Given the description of an element on the screen output the (x, y) to click on. 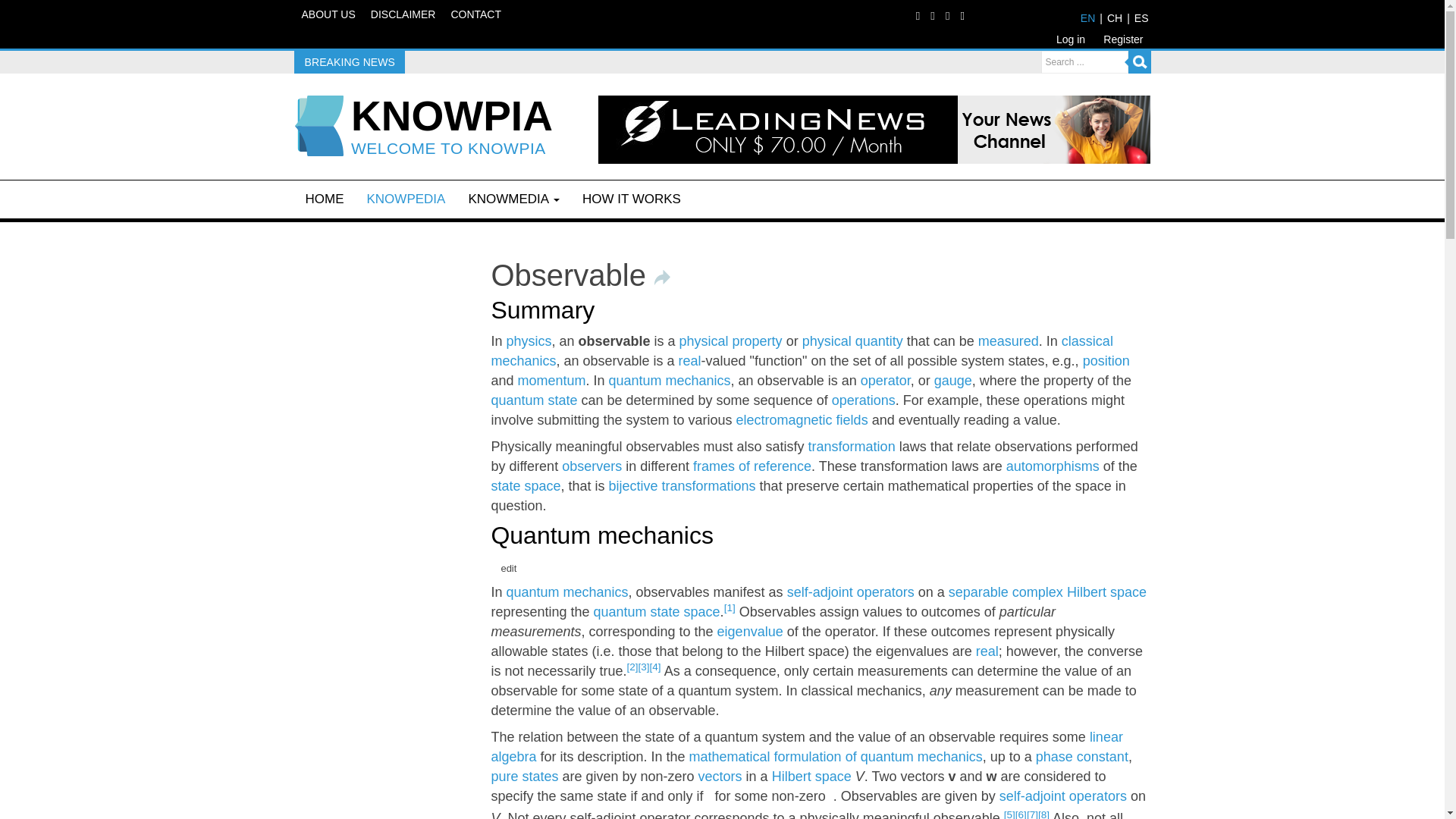
Real number (689, 360)
Frames of reference (751, 466)
KNOWPIA (451, 116)
DISCLAIMER (403, 15)
ERANEWS (451, 116)
Physics (528, 340)
Gauge theory (953, 380)
Quantum mechanics (669, 380)
Physical property (731, 340)
Linear map (851, 446)
